Given the description of an element on the screen output the (x, y) to click on. 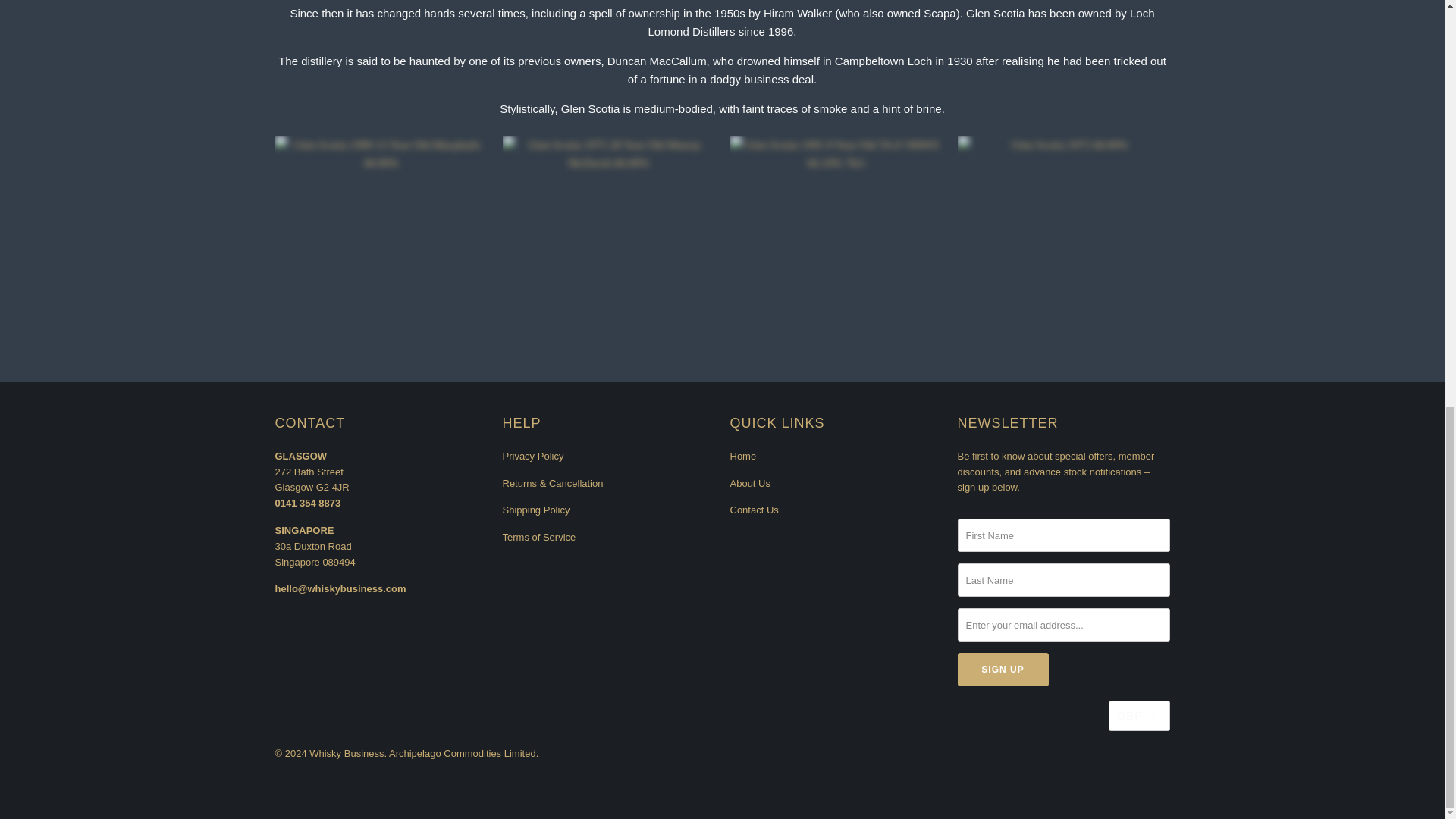
Sign Up (1002, 669)
